Given the description of an element on the screen output the (x, y) to click on. 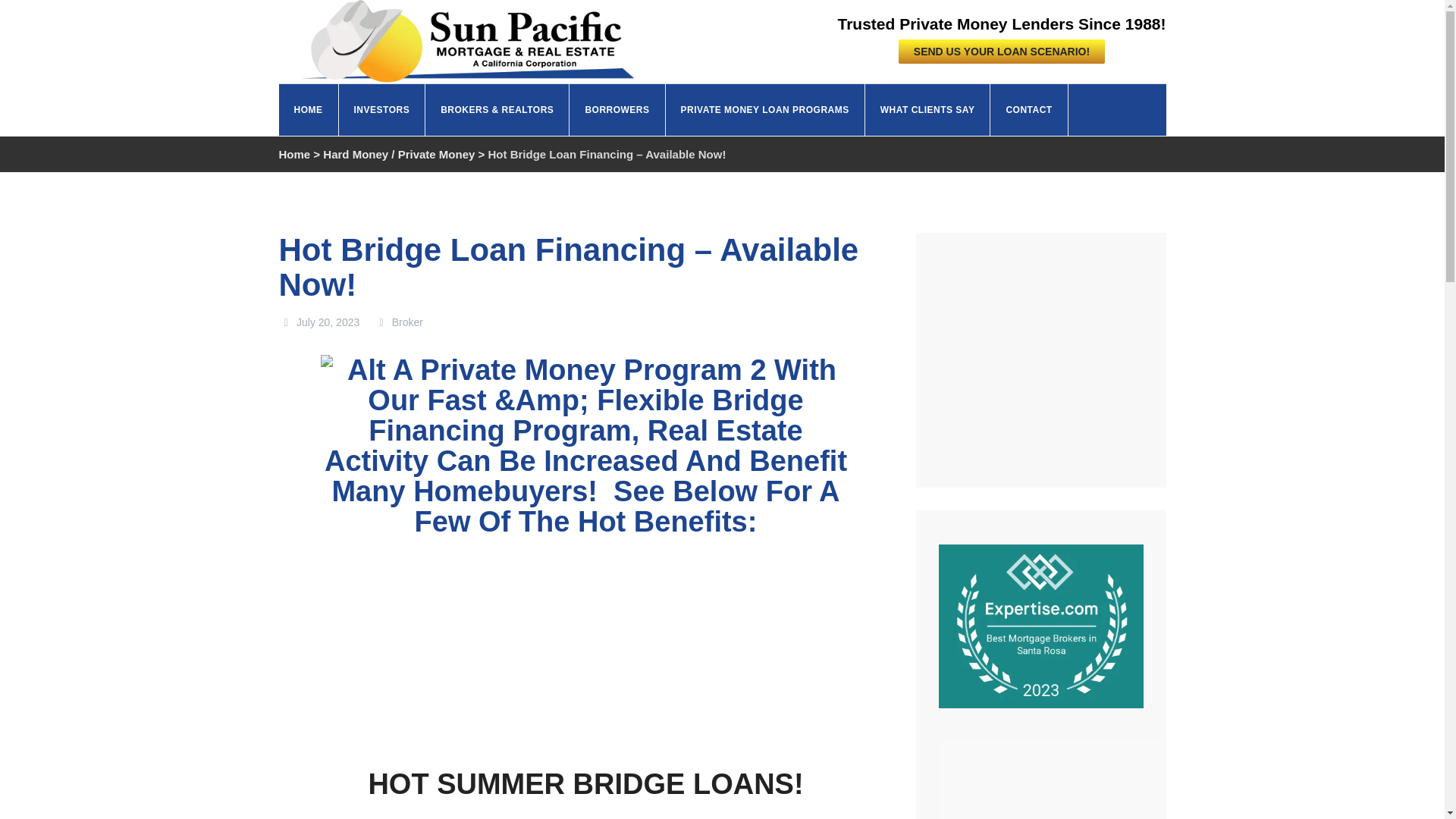
SEND US YOUR LOAN SCENARIO! (1001, 51)
Home (295, 154)
INVESTORS (381, 109)
Go to Home. (295, 154)
Posted by Broker (398, 322)
Broker (398, 322)
CONTACT (1028, 109)
BORROWERS (617, 109)
PRIVATE MONEY LOAN PROGRAMS (764, 109)
July 20, 2023 (319, 322)
WHAT CLIENTS SAY (927, 109)
